Given the description of an element on the screen output the (x, y) to click on. 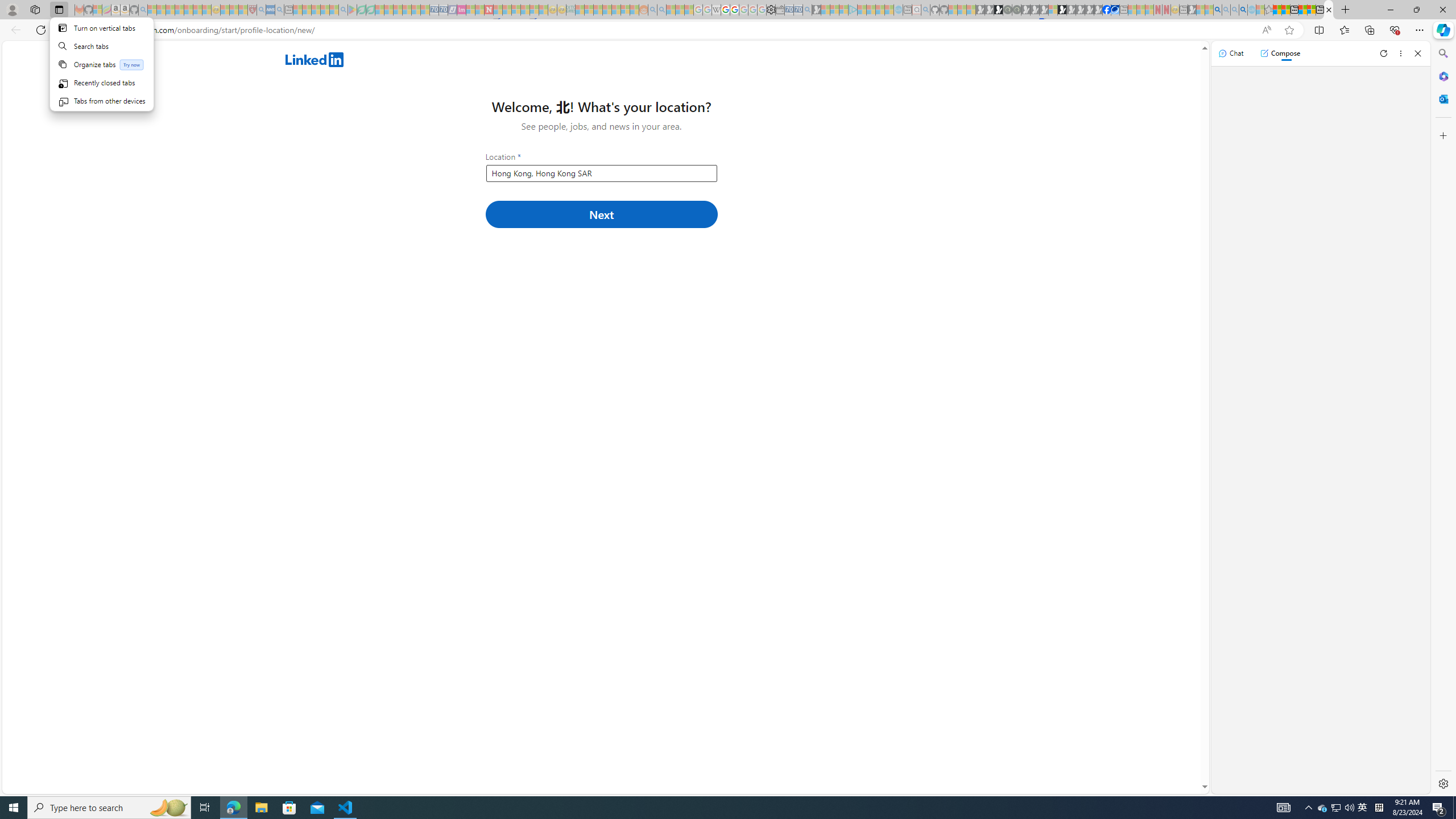
utah sues federal government - Search - Sleeping (279, 9)
Aberdeen, Hong Kong SAR weather forecast | Microsoft Weather (1285, 9)
The Weather Channel - MSN - Sleeping (170, 9)
Organize tabs (100, 63)
Kinda Frugal - MSN - Sleeping (616, 9)
